Given the description of an element on the screen output the (x, y) to click on. 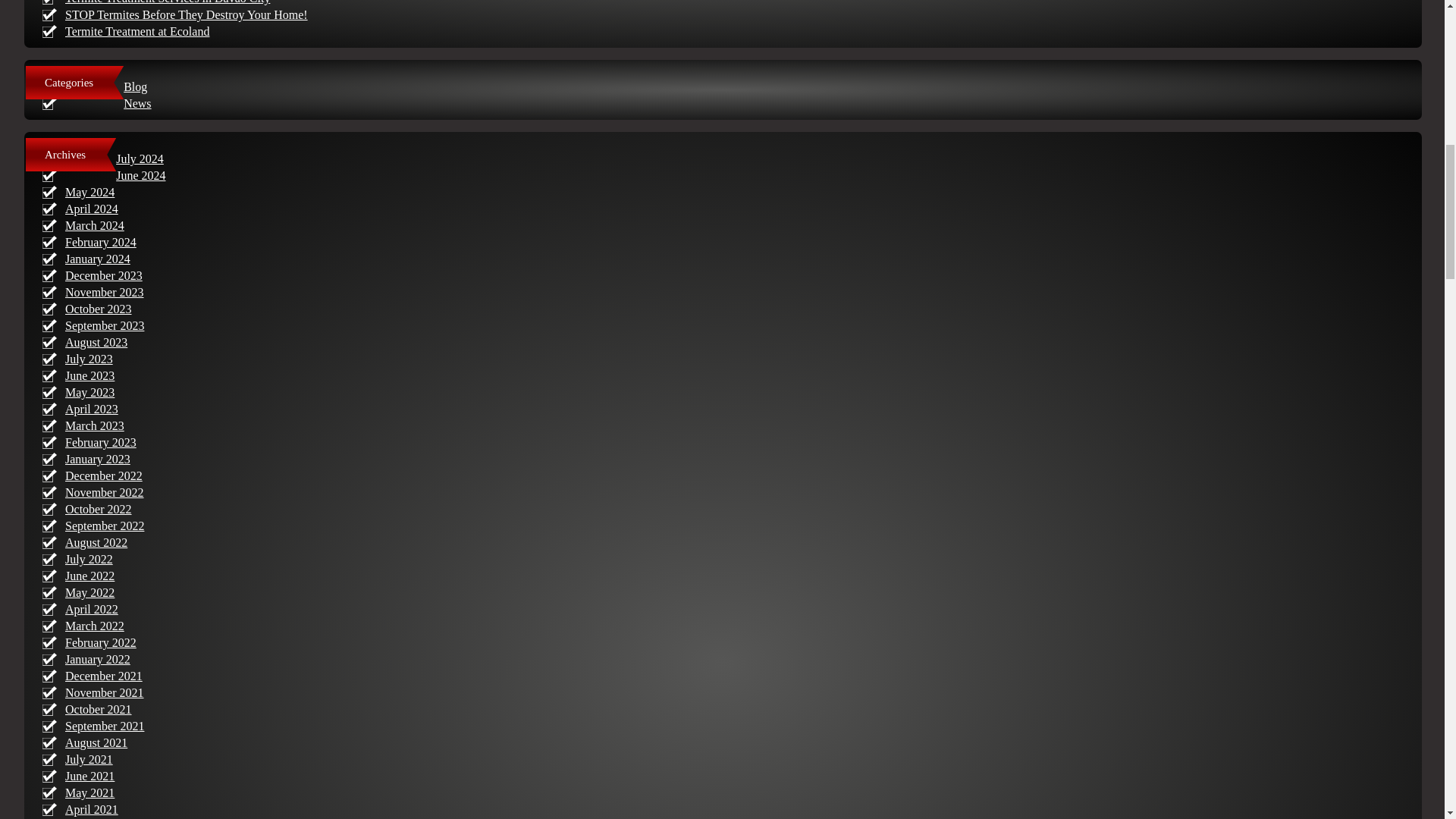
Blog (135, 86)
November 2023 (104, 291)
January 2024 (98, 258)
September 2023 (104, 325)
July 2023 (89, 358)
STOP Termites Before They Destroy Your Home! (186, 14)
February 2024 (100, 241)
August 2023 (96, 341)
April 2024 (91, 208)
Termite Treatment Services in Davao City (167, 2)
July 2024 (139, 158)
News (137, 103)
March 2024 (94, 225)
October 2023 (98, 308)
June 2024 (140, 174)
